Given the description of an element on the screen output the (x, y) to click on. 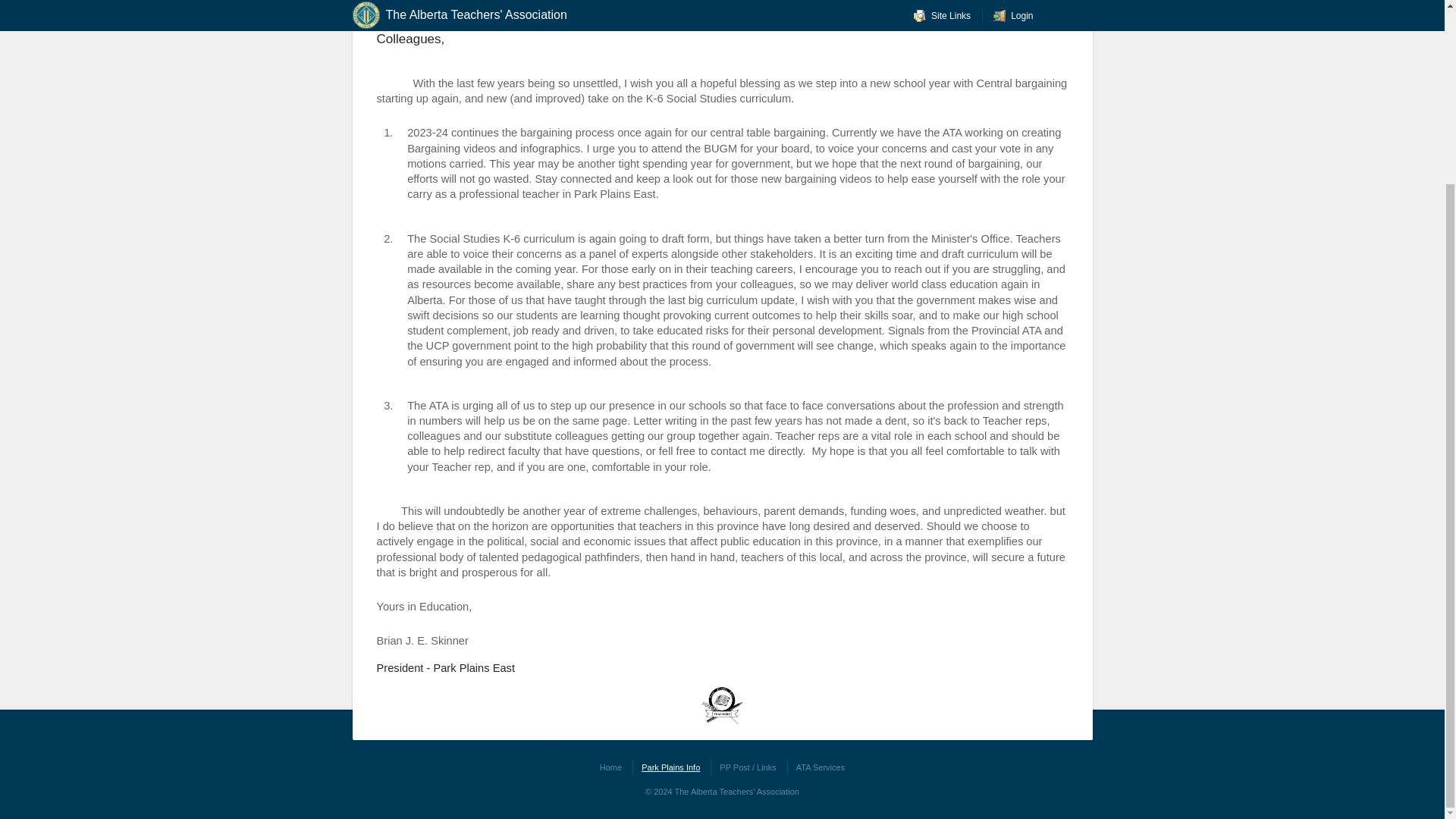
Home (610, 767)
Park Plains Info (669, 767)
Home (610, 767)
ATA Services (820, 767)
Park Plains Info (669, 767)
ATA Services (820, 767)
